Given the description of an element on the screen output the (x, y) to click on. 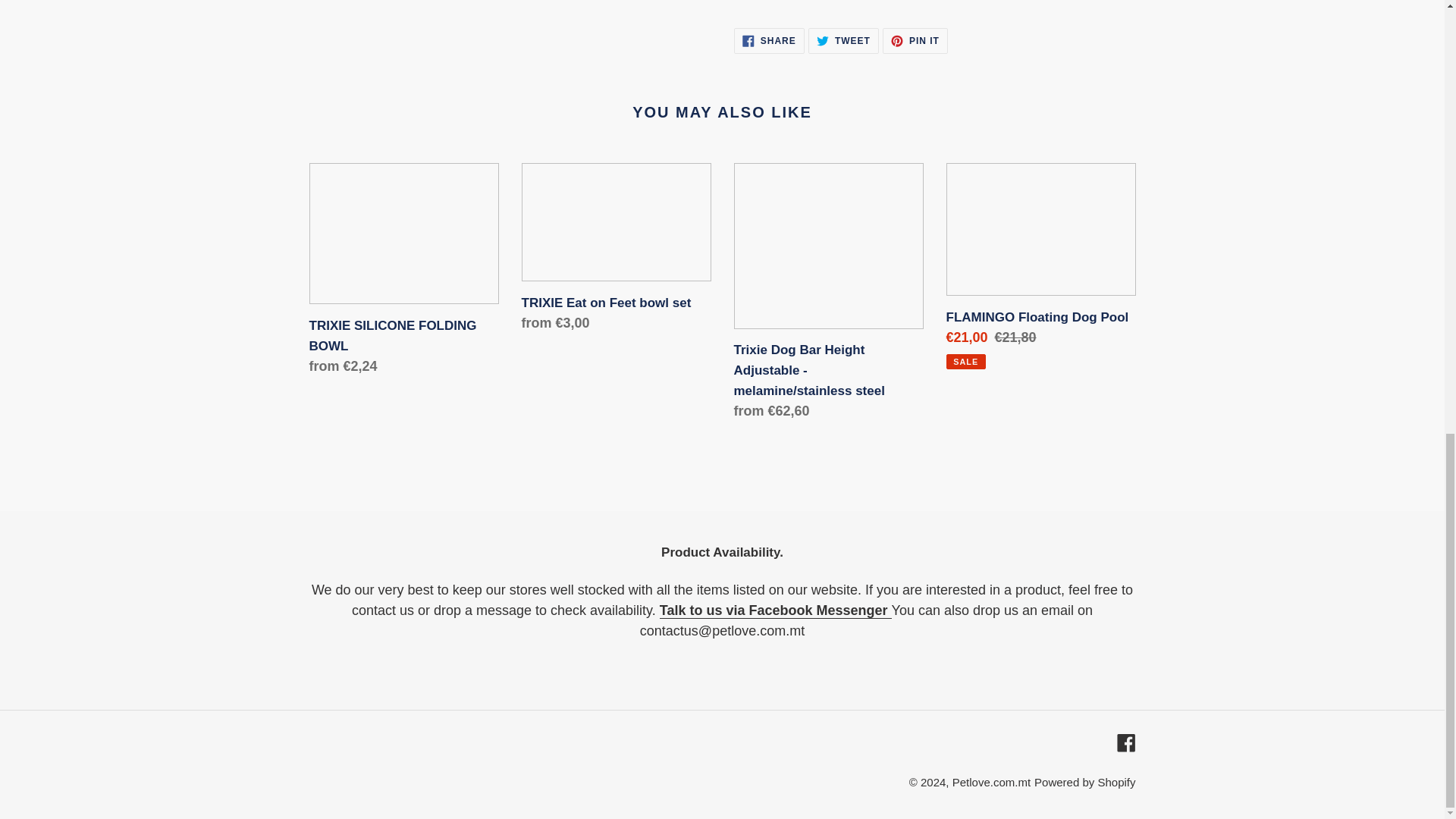
Petlove.com.mt (843, 40)
TRIXIE Eat on Feet bowl set (914, 40)
Facebook (991, 781)
Go to our Facebook Page (616, 250)
Powered by Shopify (1125, 742)
Talk to us via Facebook Messenger (775, 610)
FLAMINGO Floating Dog Pool (1084, 781)
